Given the description of an element on the screen output the (x, y) to click on. 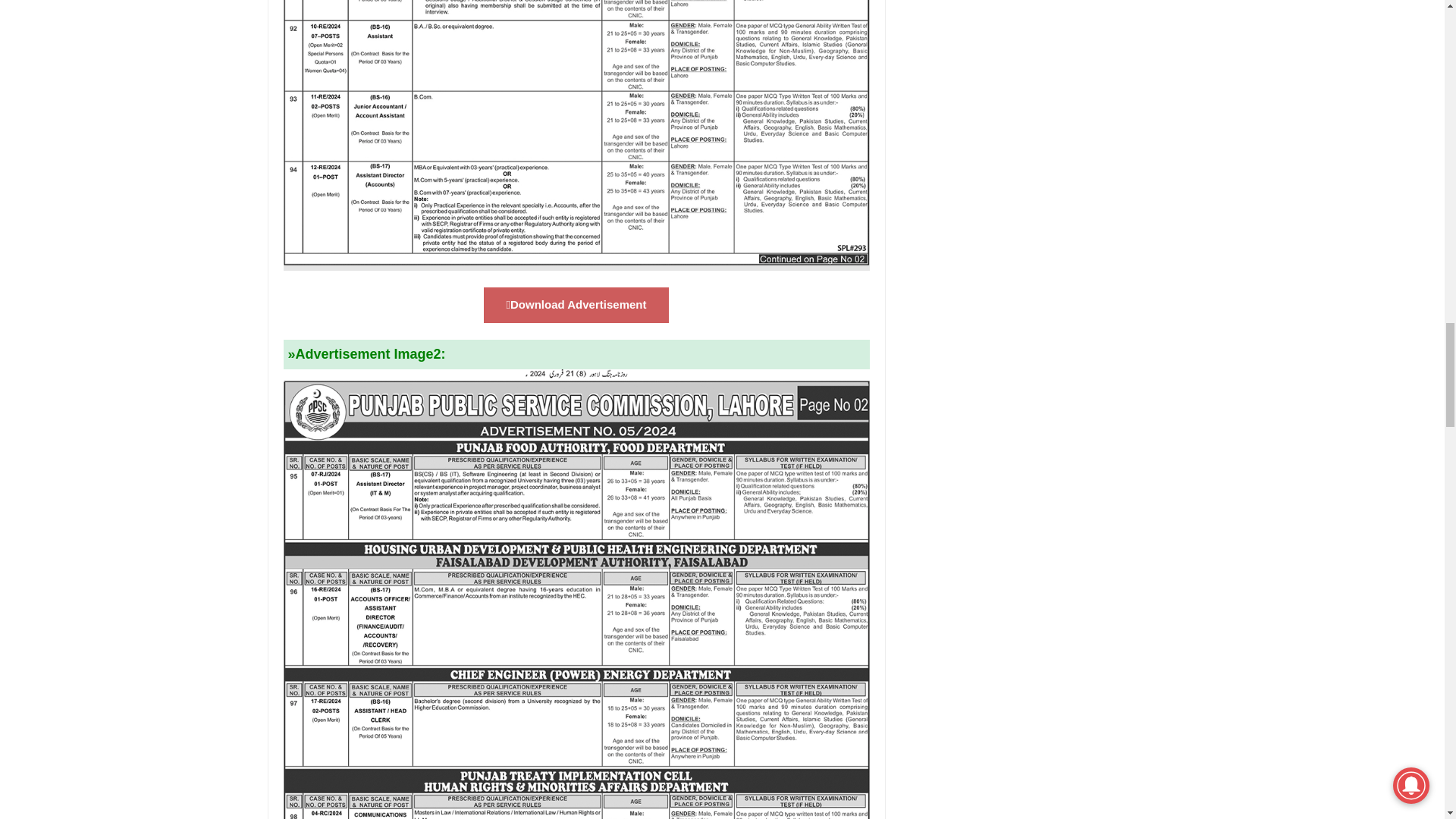
Download Advertisement (576, 304)
Download Advertisement (576, 304)
